Given the description of an element on the screen output the (x, y) to click on. 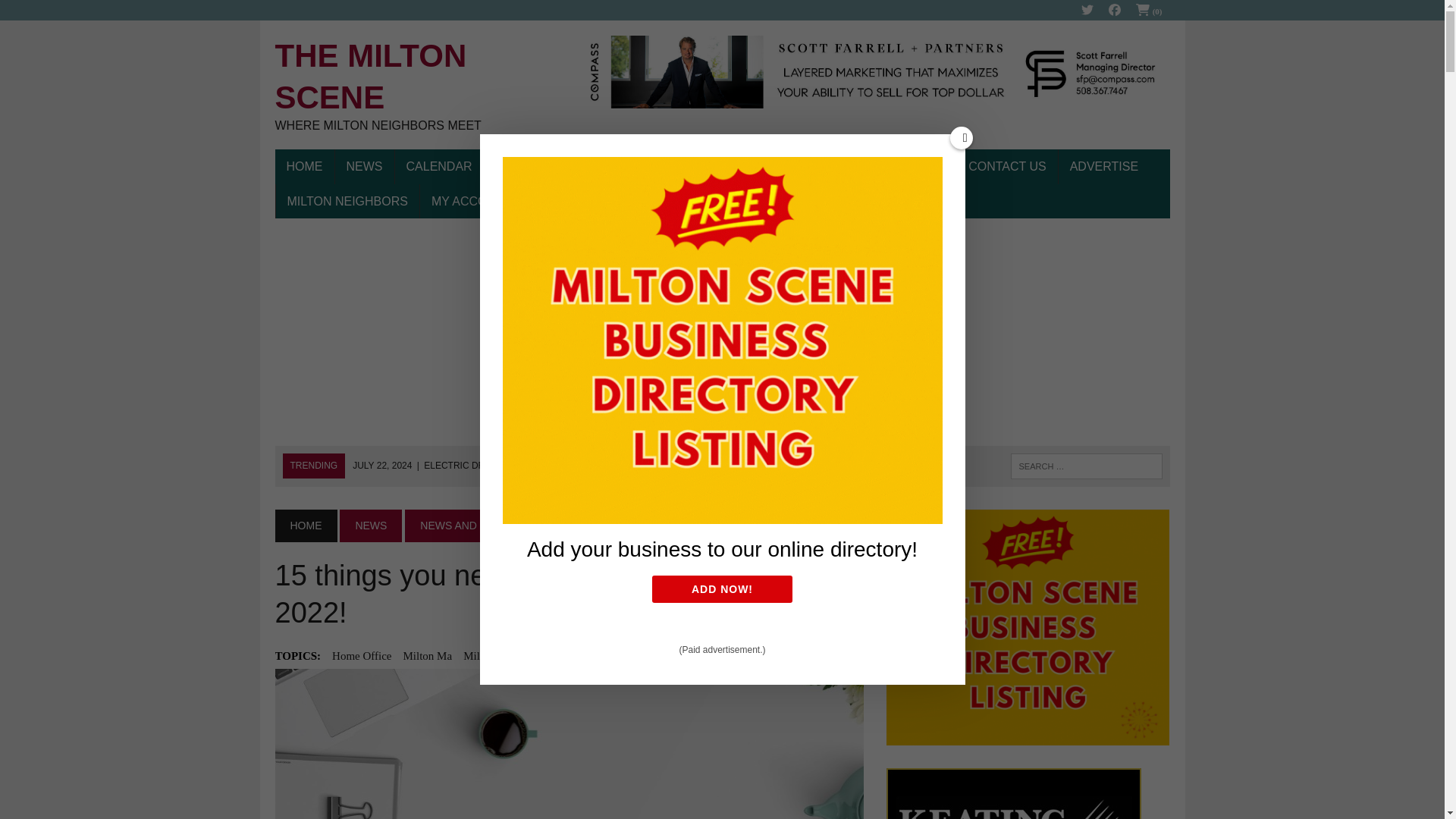
HOME (304, 166)
The Milton Scene (416, 85)
BUSINESS DIRECTORY (416, 85)
View your shopping cart (563, 166)
NEWS (1149, 10)
CALENDAR (364, 166)
MILTON RESOURCES (438, 166)
